Given the description of an element on the screen output the (x, y) to click on. 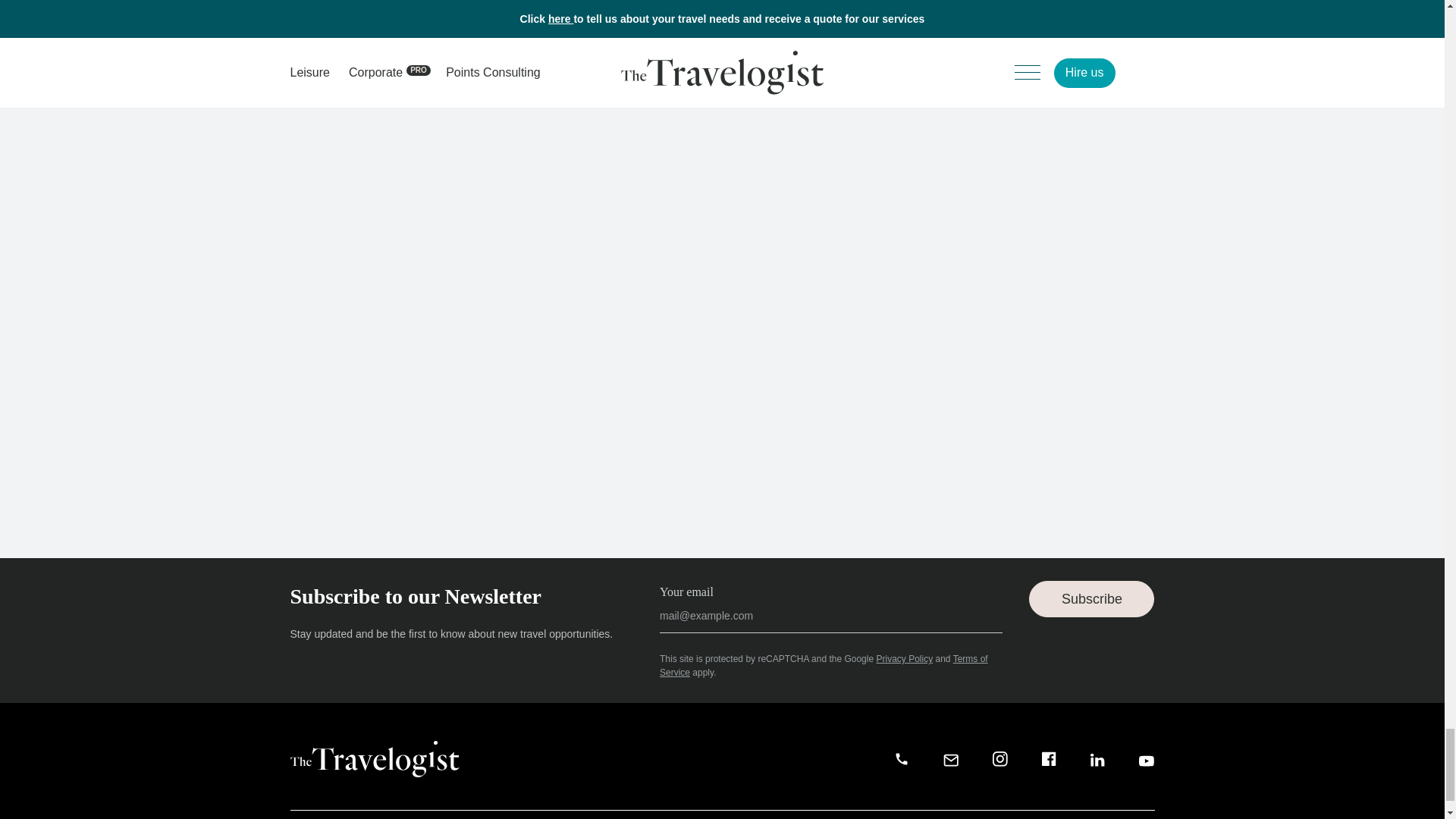
Subscribe (709, 696)
Privacy Policy (904, 658)
Subscribe (1091, 598)
Terms of Service (823, 665)
